Given the description of an element on the screen output the (x, y) to click on. 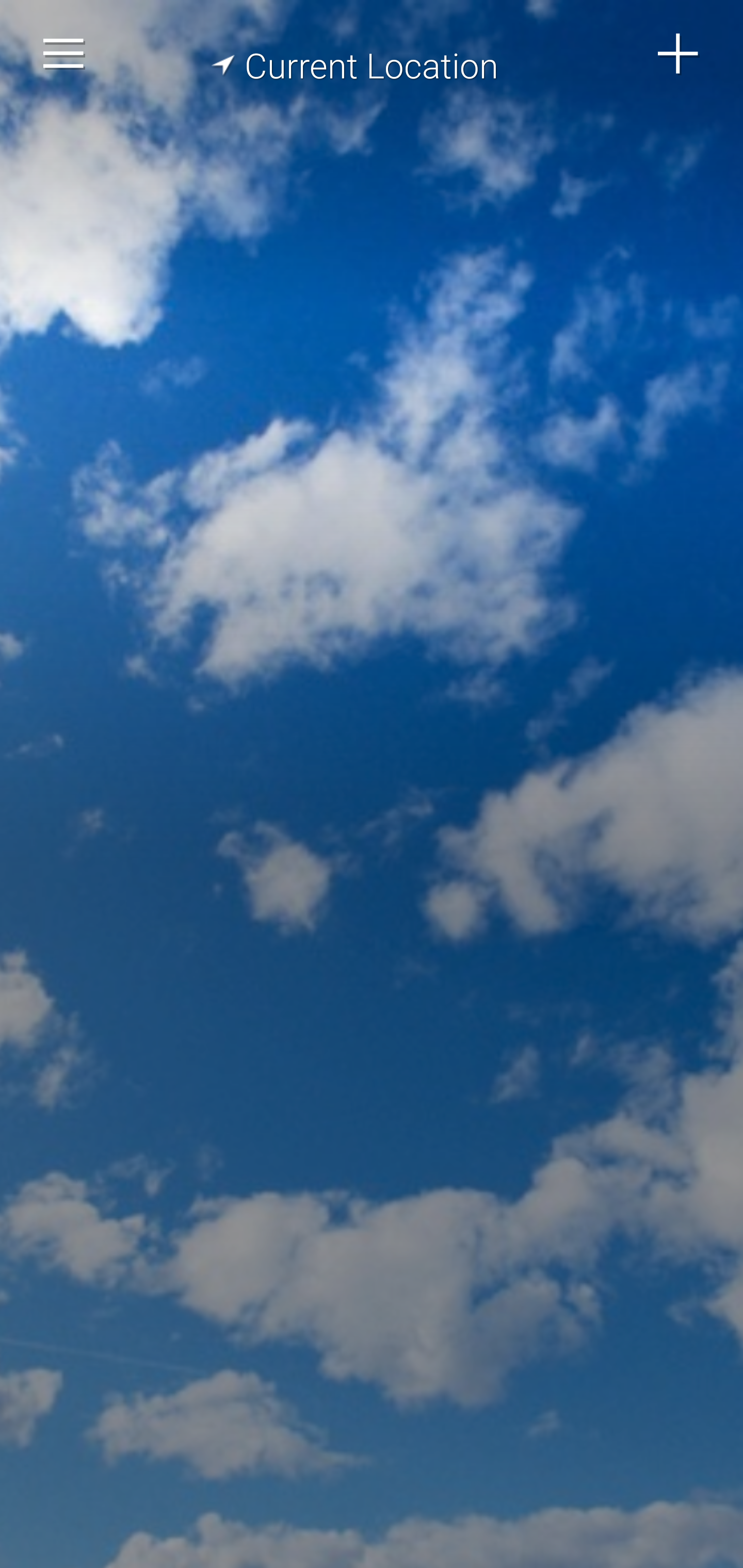
Sidebar (64, 54)
Add City (678, 53)
